Given the description of an element on the screen output the (x, y) to click on. 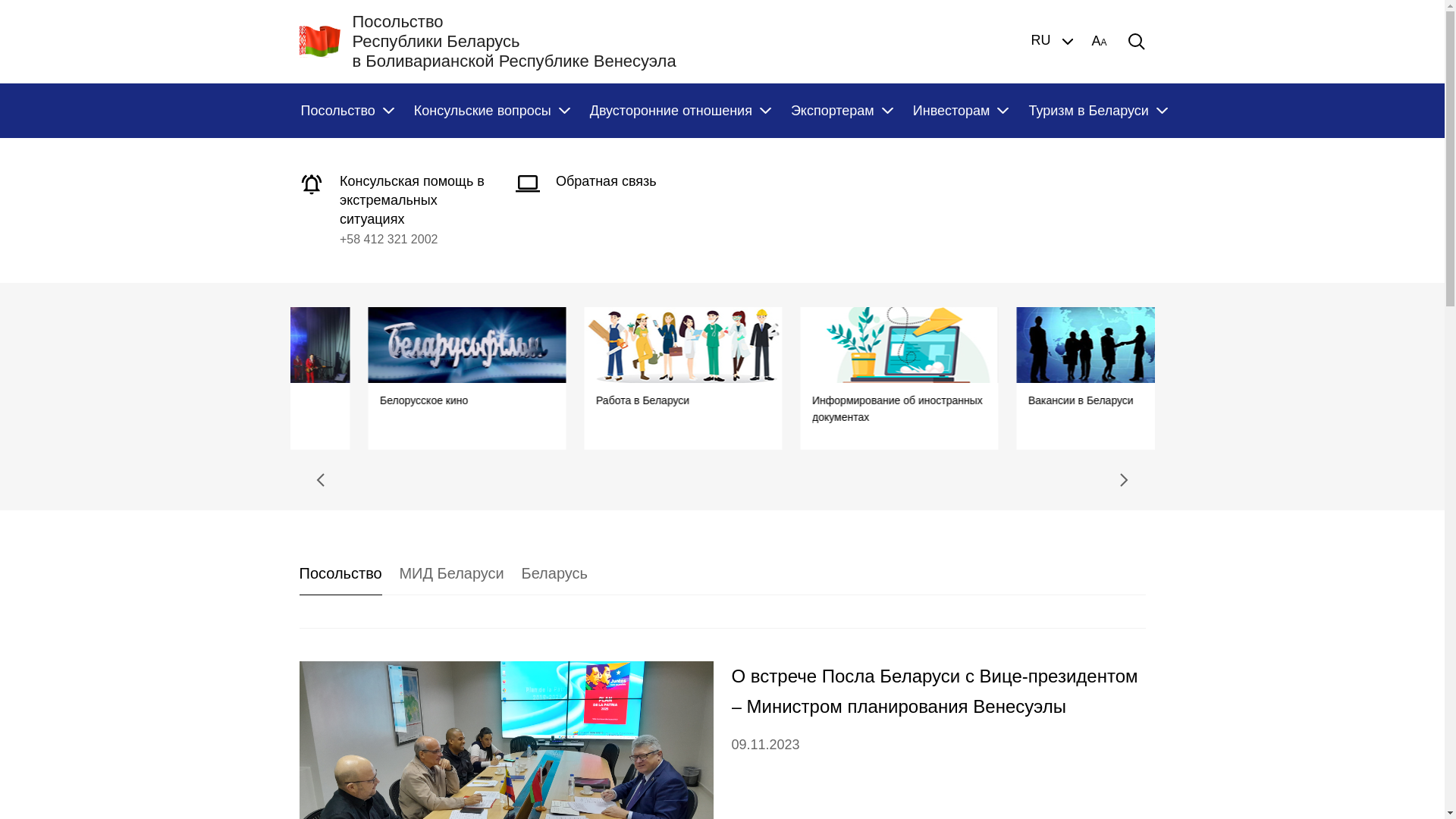
Next Element type: text (1123, 479)
AA Element type: text (1098, 41)
Previous Element type: text (319, 479)
